Given the description of an element on the screen output the (x, y) to click on. 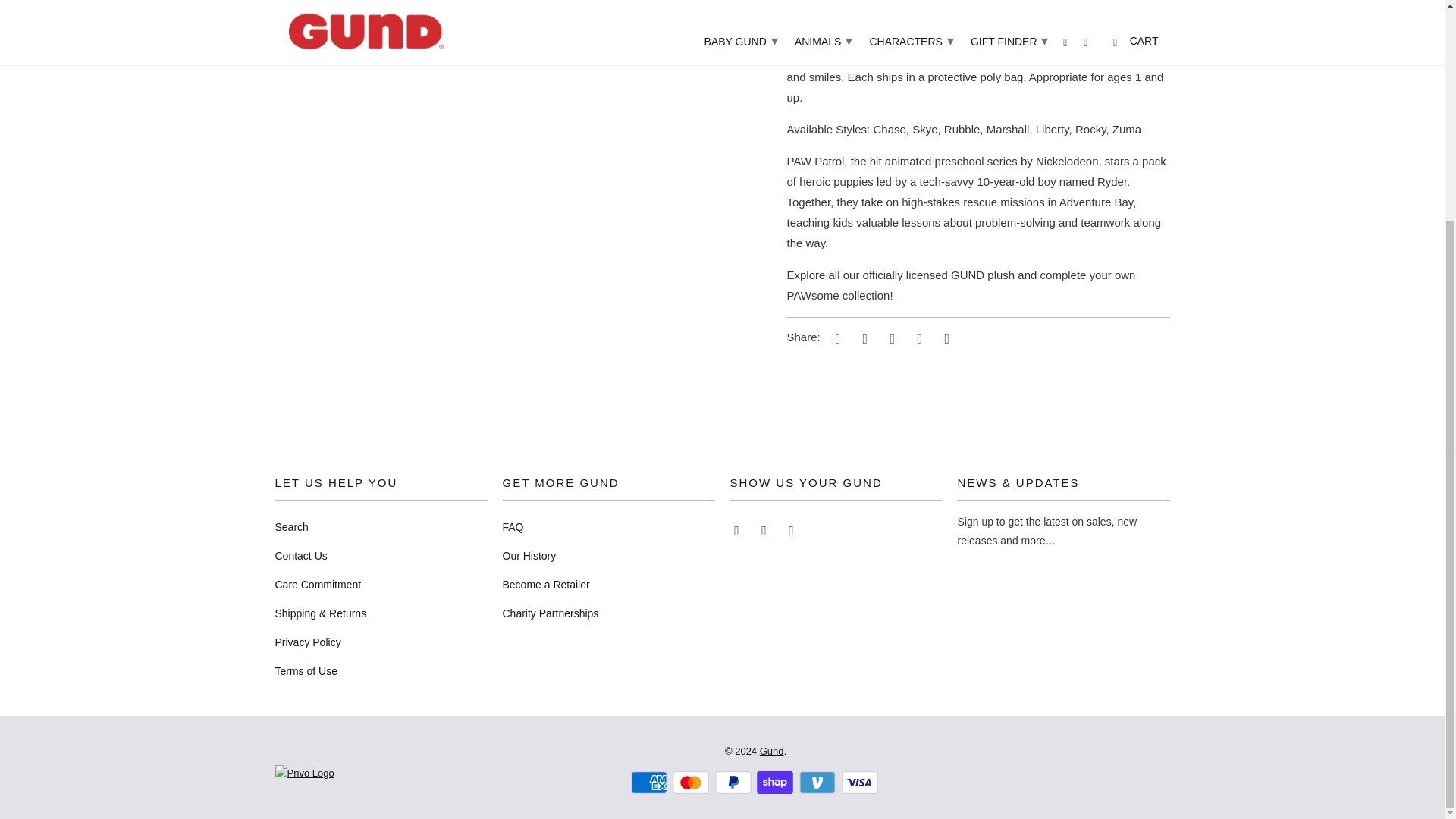
Gund on Twitter (737, 529)
Gund on Instagram (792, 529)
Venmo (818, 782)
Gund on Facebook (765, 529)
Share this on Pinterest (889, 337)
Mastercard (691, 782)
Shop Pay (776, 782)
Share this on Facebook (862, 337)
Visa (860, 782)
Share this on Twitter (835, 337)
